Given the description of an element on the screen output the (x, y) to click on. 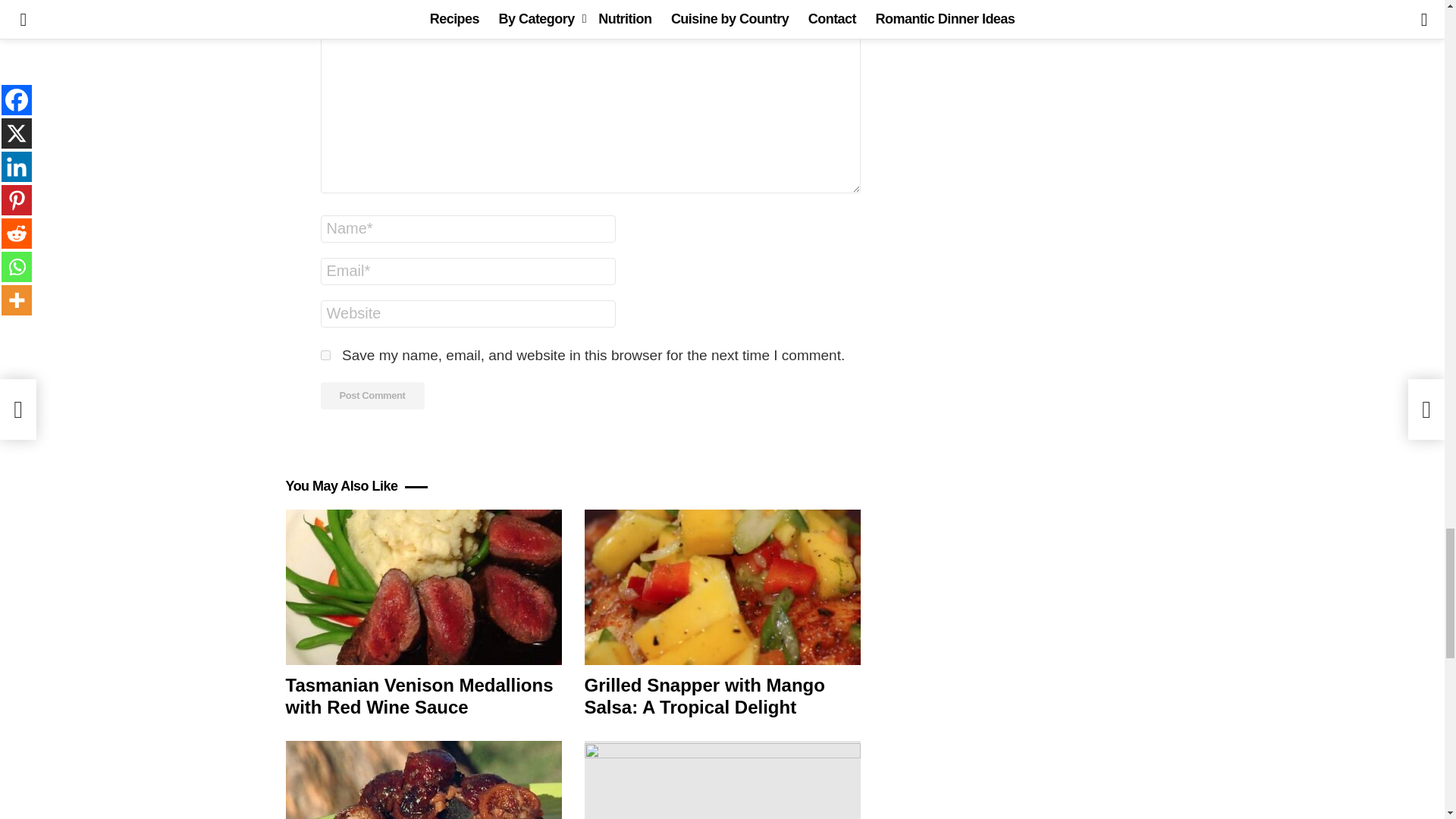
yes (325, 355)
Post Comment (371, 395)
